Given the description of an element on the screen output the (x, y) to click on. 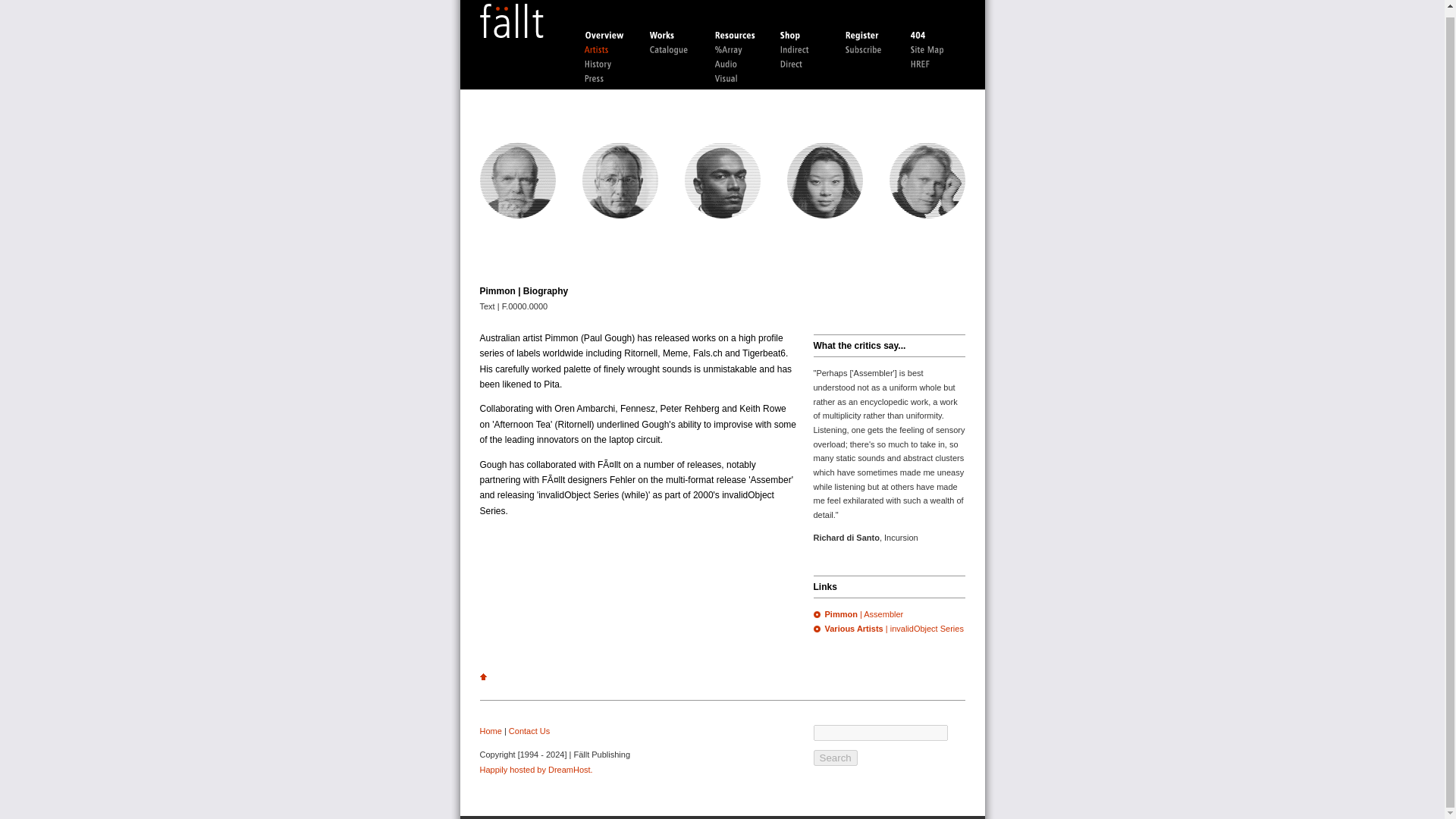
Subscribe (869, 50)
Artists (608, 50)
Contact Us (529, 730)
Direct (803, 64)
Indirect (803, 50)
Return To Top (482, 676)
Happily hosted by DreamHost. (535, 768)
HREF (934, 64)
Catalogue (673, 50)
Visual (739, 79)
Home (489, 730)
History (608, 64)
Audio (739, 64)
Press (608, 79)
Sitemap (934, 50)
